Given the description of an element on the screen output the (x, y) to click on. 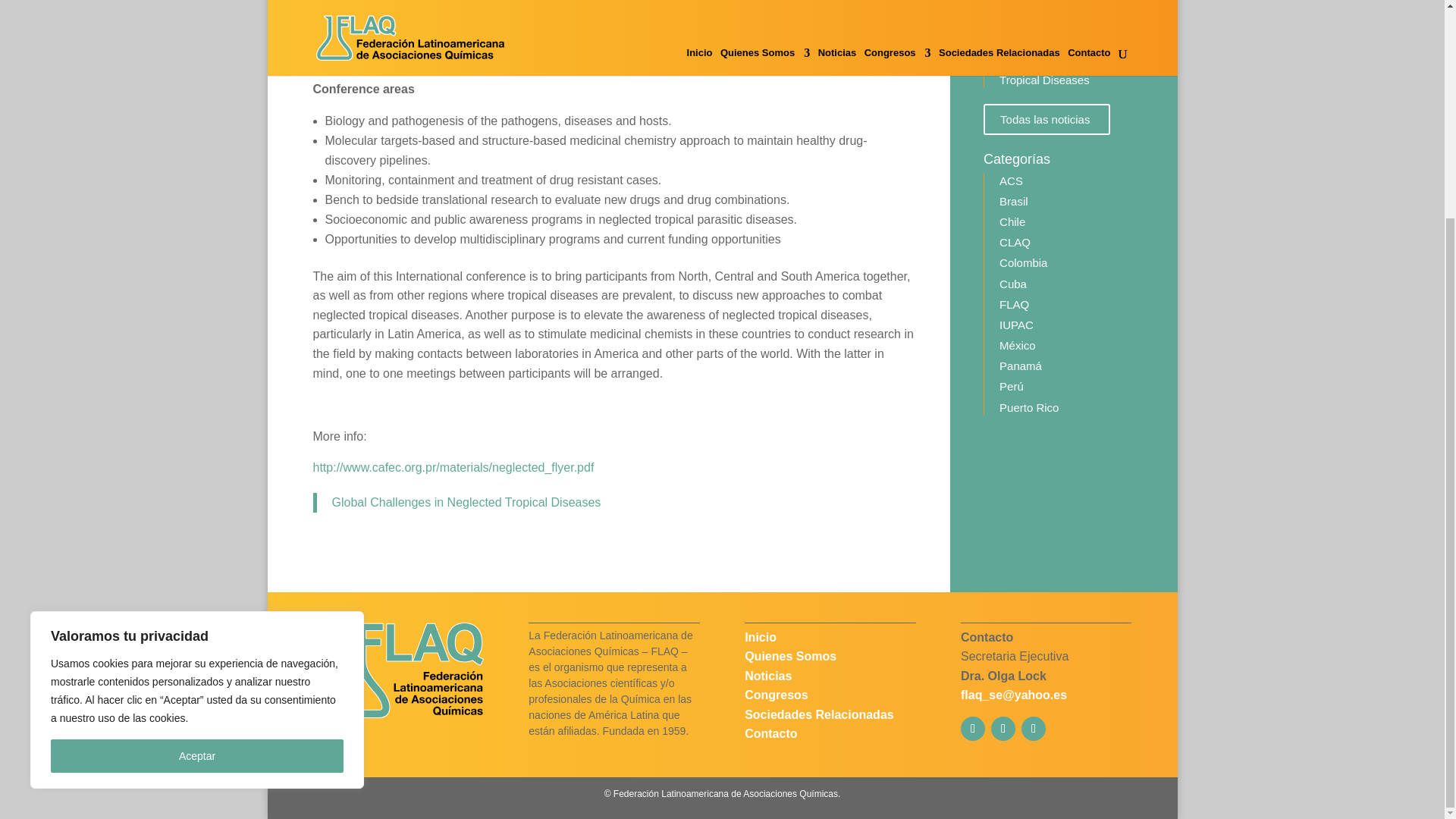
Seguir en Facebook (1002, 728)
Seguir en Instagram (972, 728)
logo-flaq-aro-branco (398, 669)
Aceptar (196, 467)
Seguir en Youtube (1033, 728)
